Given the description of an element on the screen output the (x, y) to click on. 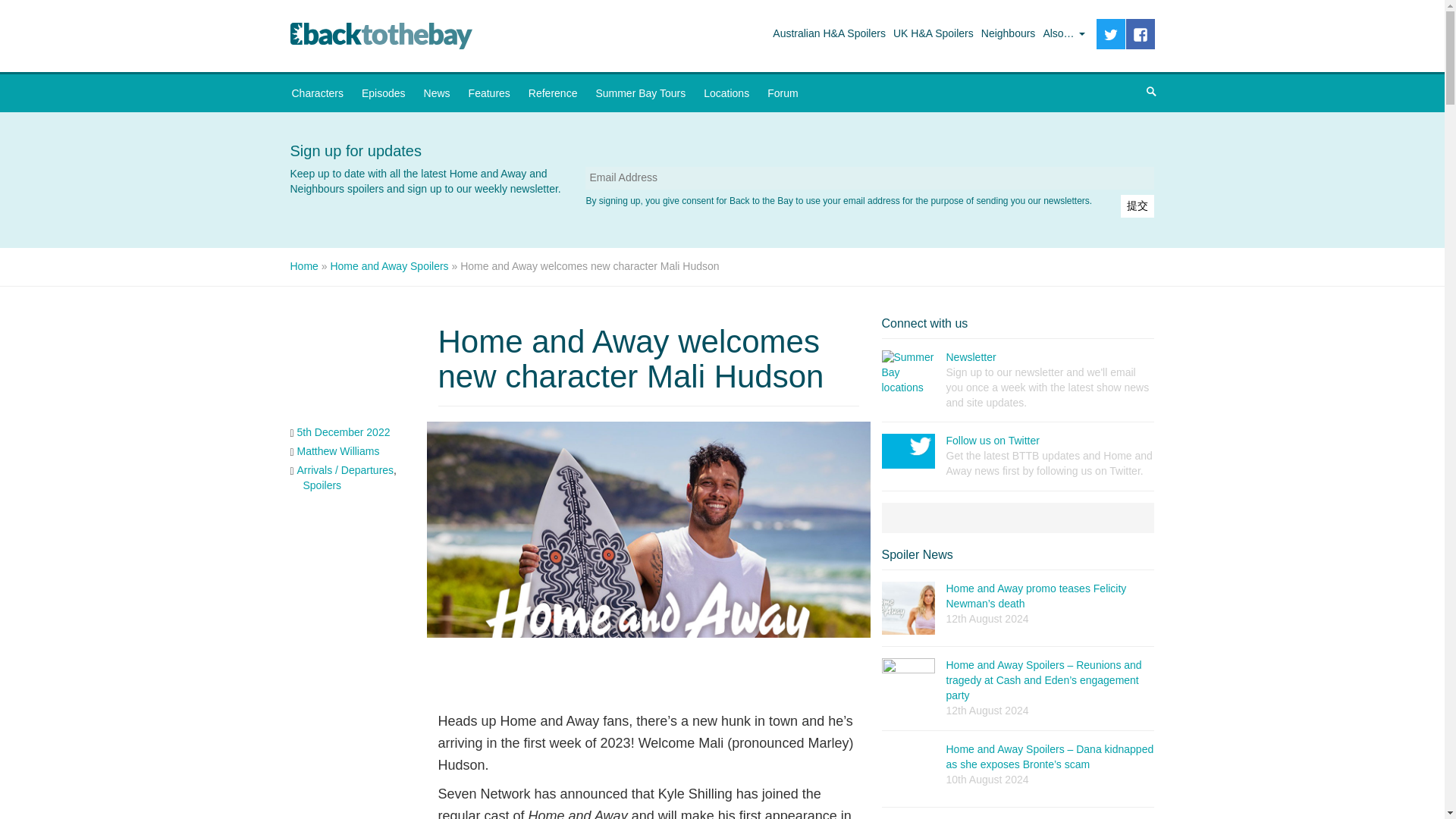
News (437, 93)
Summer Bay Locations (726, 93)
UK Home and Away Spoilers (932, 33)
Home and Away Characters (317, 93)
Locations (726, 93)
Home and Away Features (489, 93)
Neighbours Spoilers and News (1007, 33)
Neighbours (1007, 33)
Home (303, 265)
Reference (552, 93)
